Given the description of an element on the screen output the (x, y) to click on. 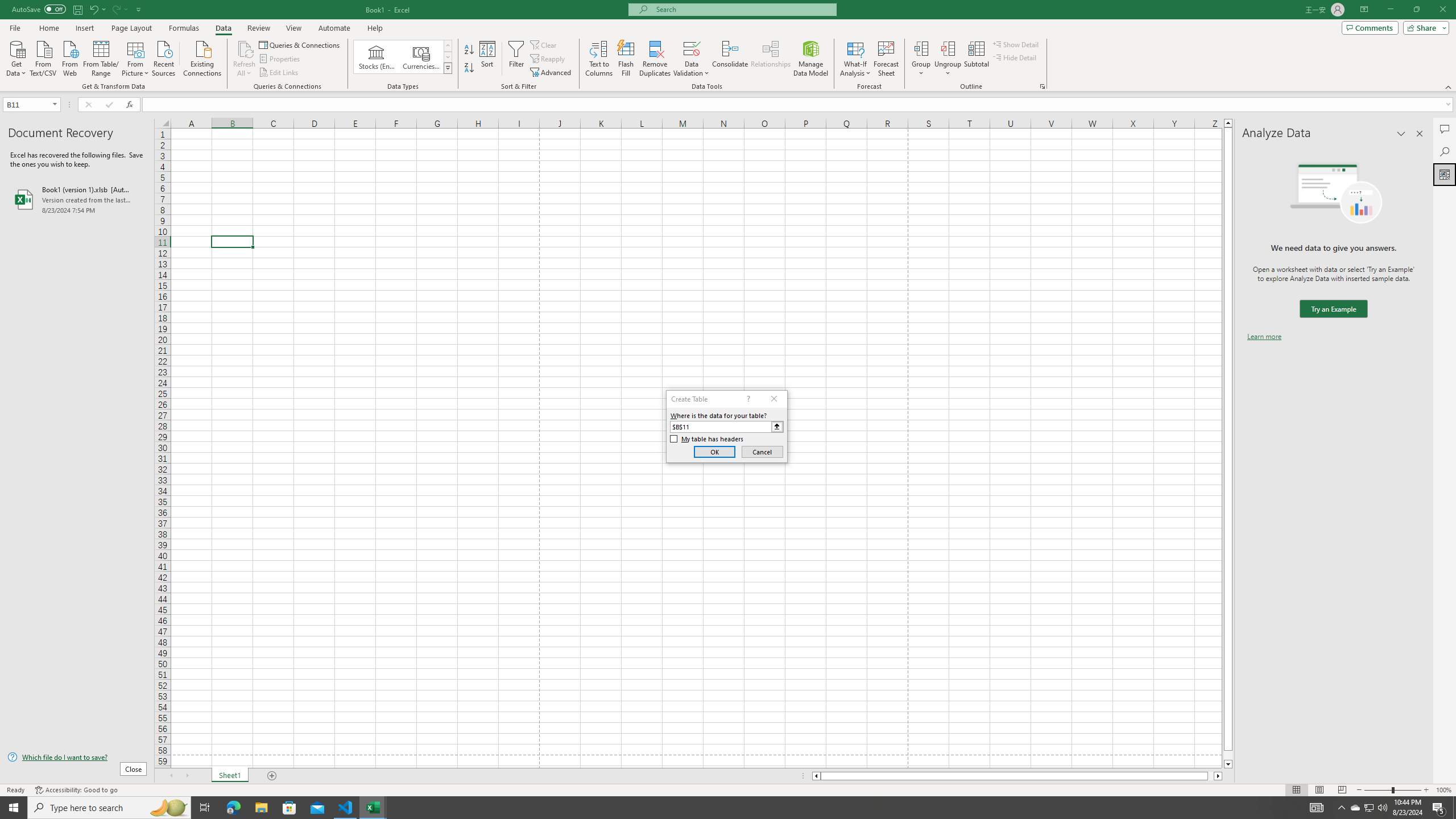
Close pane (1419, 133)
Restore Down (1416, 9)
Help (374, 28)
Row Down (448, 56)
Group... (921, 48)
Show Detail (1016, 44)
Comments (1369, 27)
Zoom In (1426, 790)
Data Types (448, 67)
Collapse the Ribbon (1448, 86)
Column left (815, 775)
Sort Z to A (469, 67)
Save (77, 9)
Zoom Out (1377, 790)
